Given the description of an element on the screen output the (x, y) to click on. 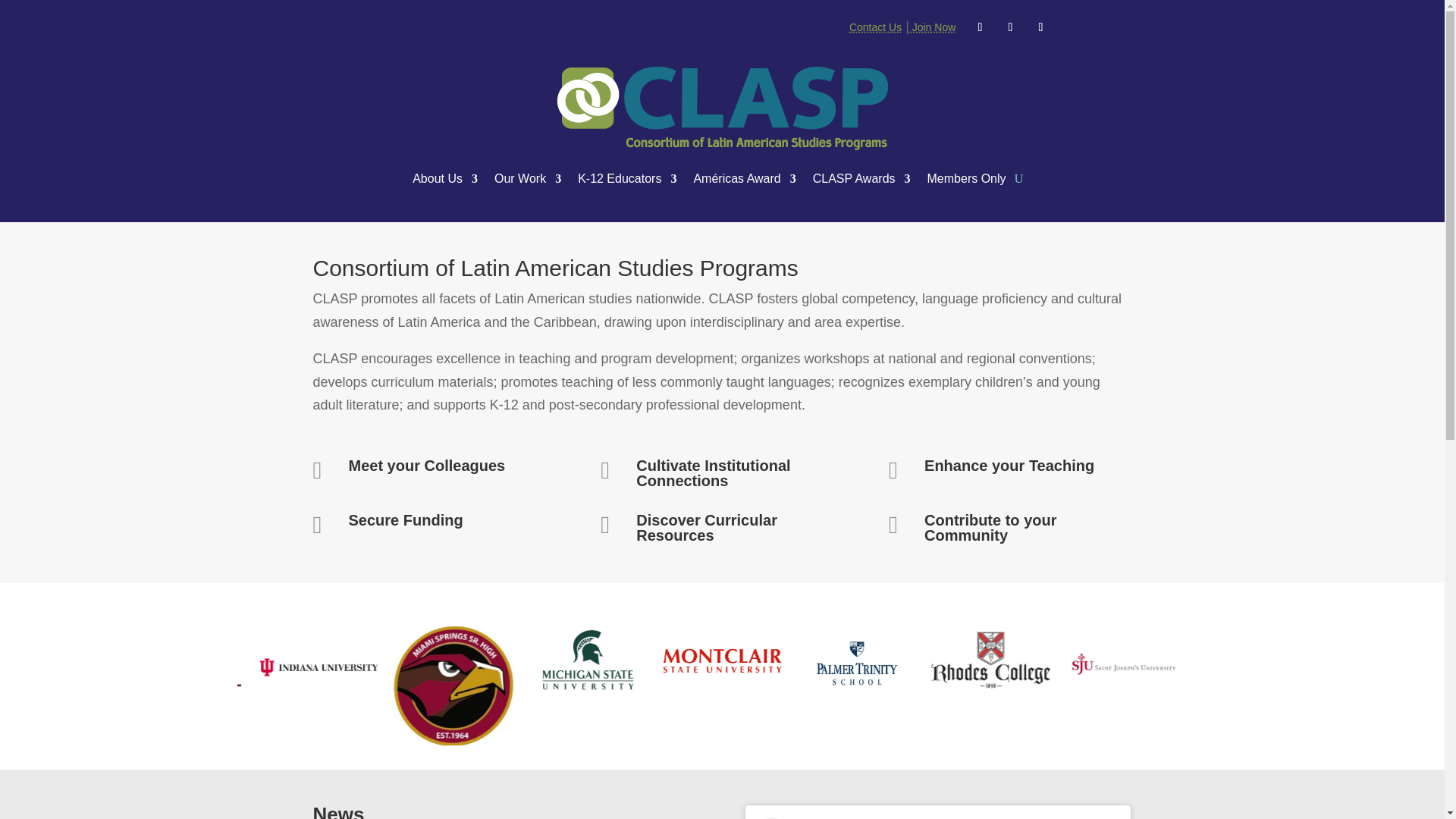
Members Only (966, 178)
Follow on X (1009, 27)
K-12 Educators (627, 178)
Follow on Facebook (979, 27)
CLASP Awards (861, 178)
Join Now (931, 27)
Follow on Instagram (1039, 27)
Our Work (527, 178)
About Us (444, 178)
Contact Us (874, 27)
